Given the description of an element on the screen output the (x, y) to click on. 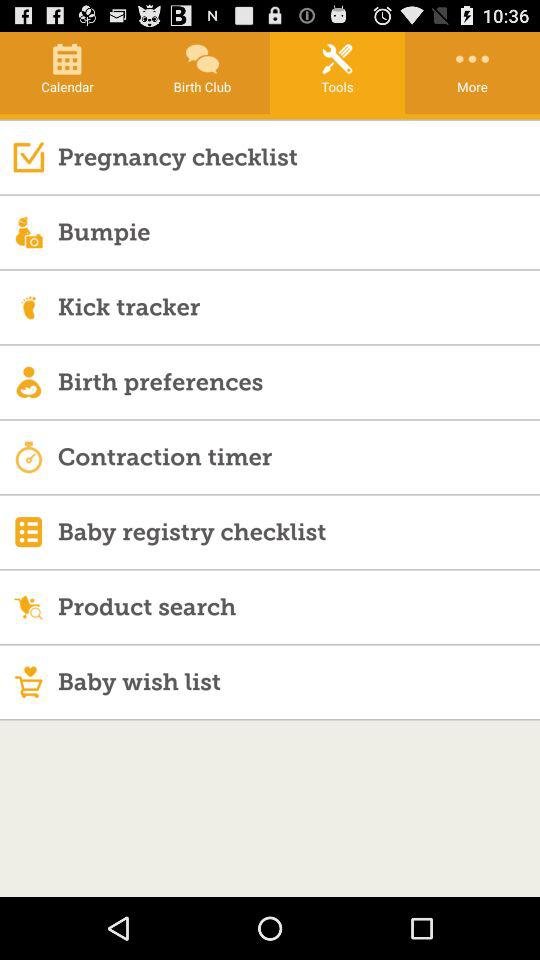
turn off the product search (298, 606)
